Given the description of an element on the screen output the (x, y) to click on. 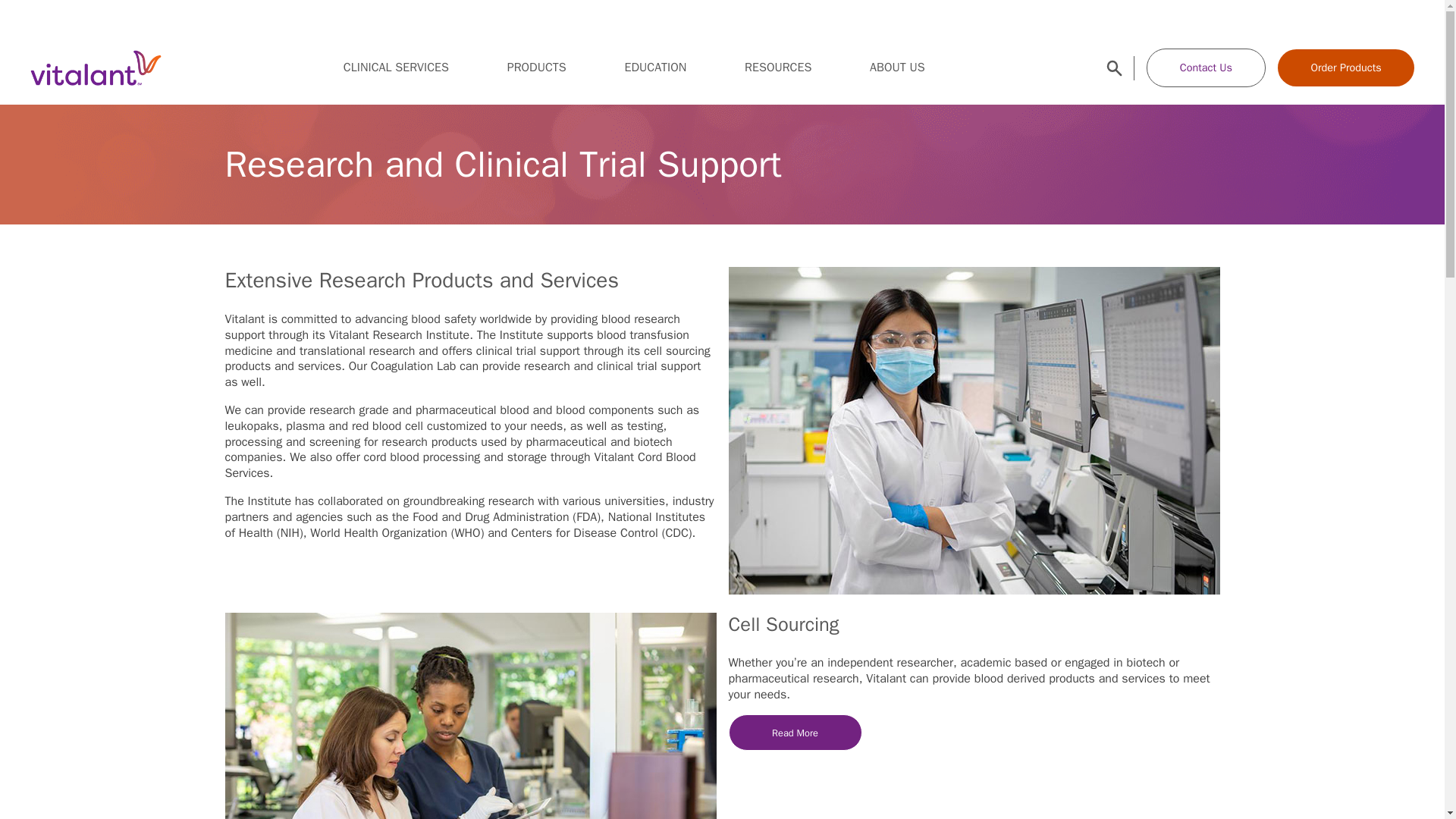
Contact Us (1206, 67)
lab-overview.jpg (470, 715)
Order Products (1345, 67)
CLINICAL SERVICES (395, 67)
